Given the description of an element on the screen output the (x, y) to click on. 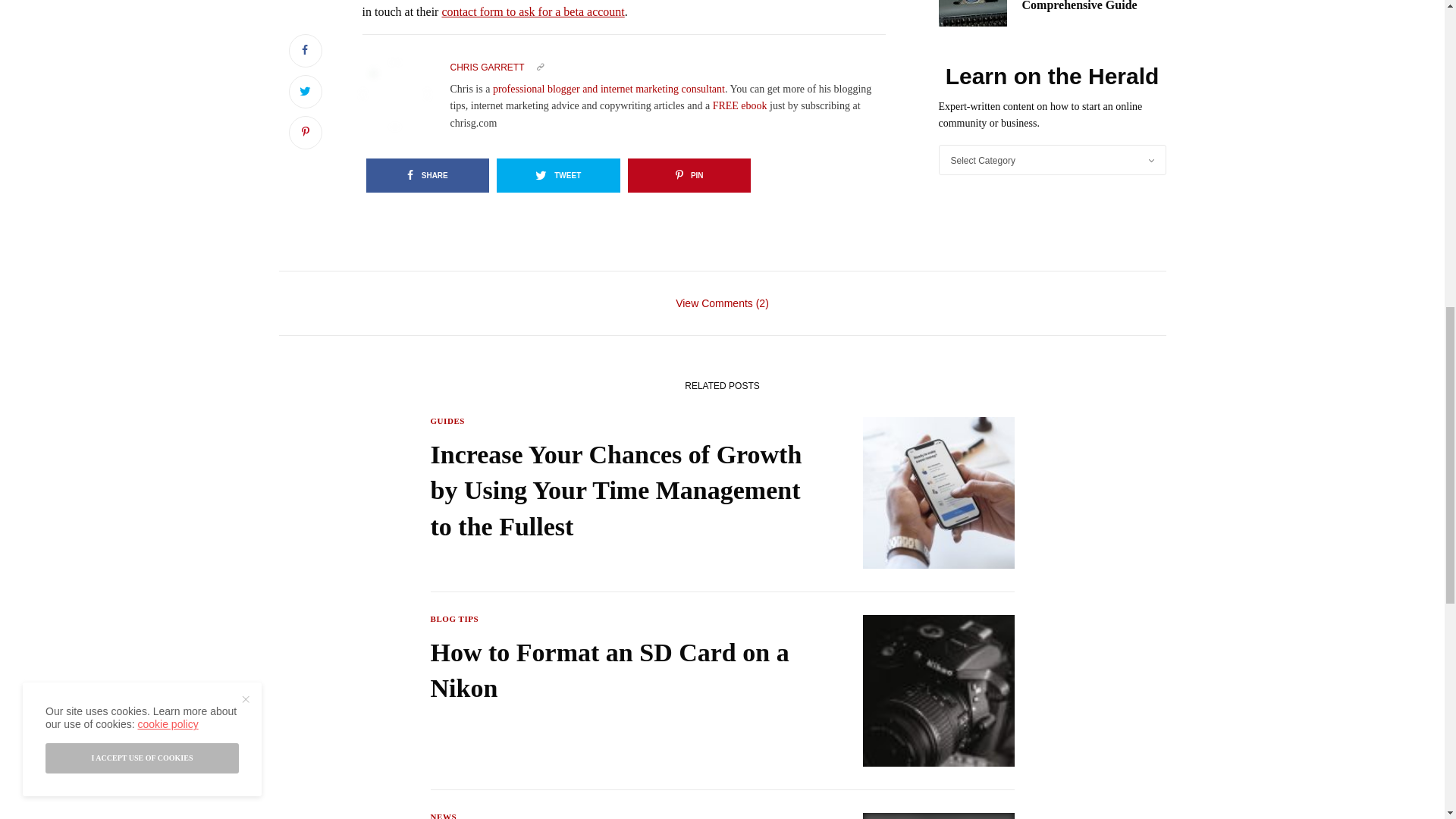
contact form to ask for a beta account (532, 11)
CHRIS GARRETT (486, 67)
professional blogger and internet marketing consultant (609, 89)
How to Format an SD Card on a Nikon (617, 670)
FREE ebook (740, 105)
PIN (689, 175)
TWEET (558, 175)
SHARE (427, 175)
